Given the description of an element on the screen output the (x, y) to click on. 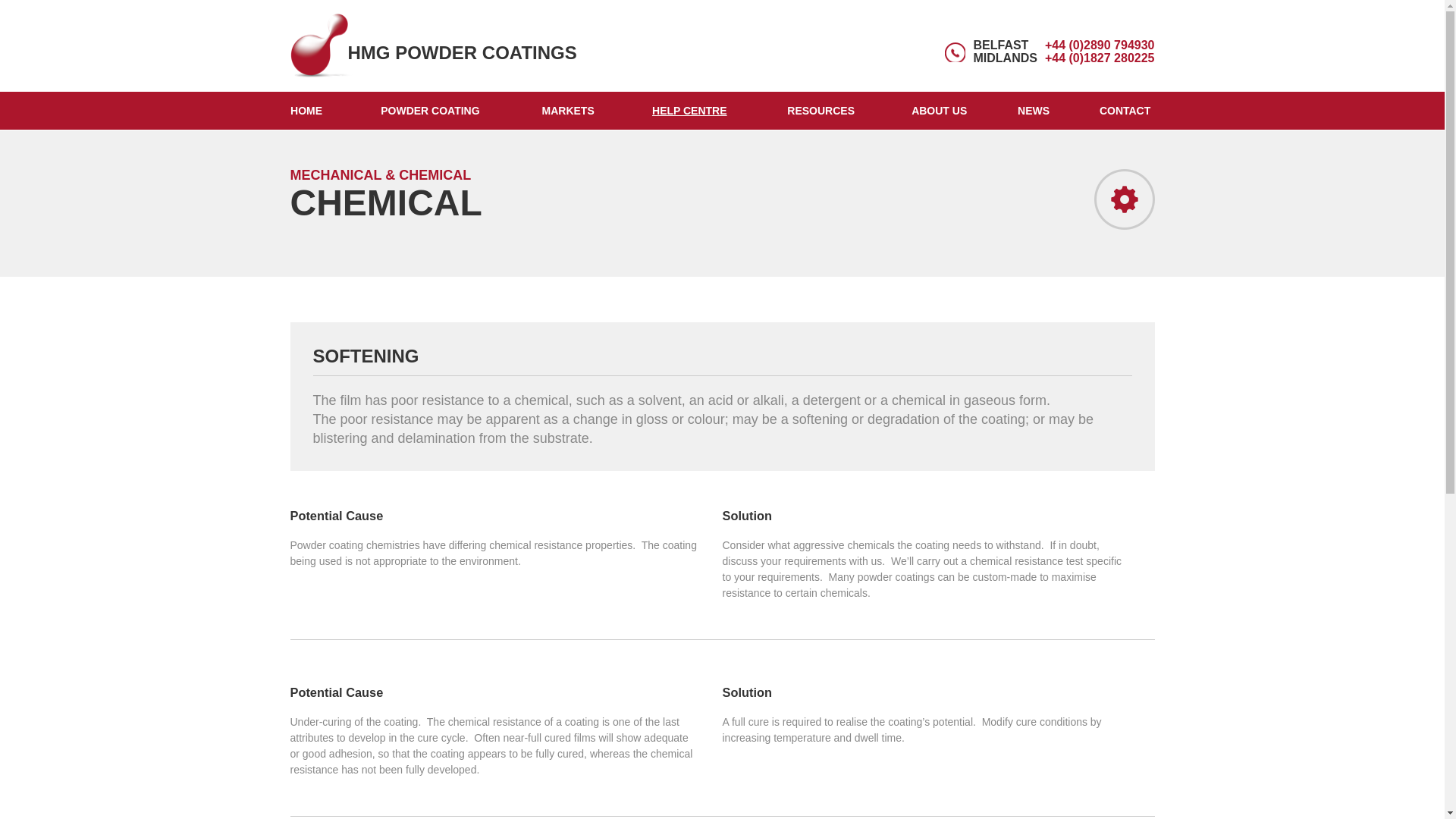
HELP CENTRE (689, 110)
RESOURCES (820, 110)
HOME (305, 110)
CONTACT (1125, 110)
POWDER COATING (430, 110)
ABOUT US (938, 110)
MARKETS (568, 110)
HMG POWDER COATINGS (436, 45)
NEWS (1032, 110)
